Given the description of an element on the screen output the (x, y) to click on. 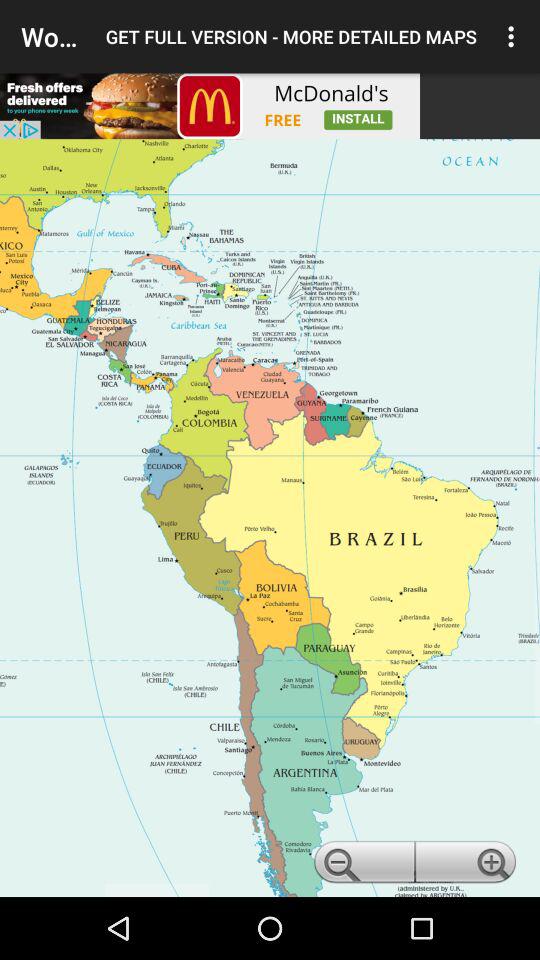
click the add (210, 106)
